Given the description of an element on the screen output the (x, y) to click on. 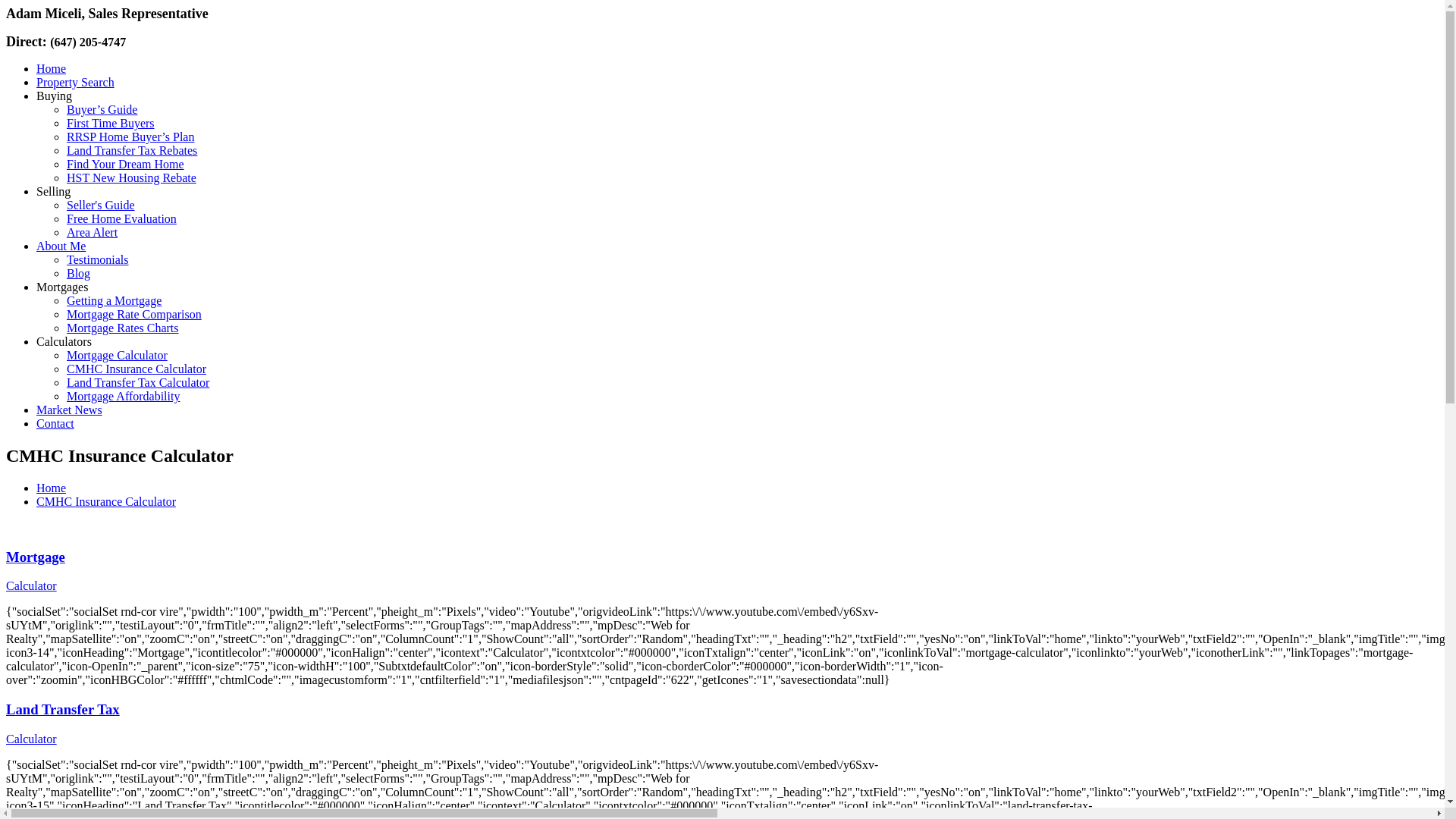
CMHC Insurance Calculator Element type: text (136, 368)
Mortgage Rates Charts Element type: text (122, 327)
Home Element type: text (50, 487)
Property Search Element type: text (75, 81)
Home Element type: text (50, 68)
Testimonials Element type: text (97, 259)
Buying Element type: text (54, 95)
First Time Buyers Element type: text (110, 122)
Land Transfer Tax Calculator Element type: text (137, 382)
Contact Element type: text (55, 423)
Mortgages Element type: text (61, 286)
Mortgage
Calculator Element type: text (722, 571)
HST New Housing Rebate Element type: text (131, 177)
Free Home Evaluation Element type: text (121, 218)
CMHC Insurance Calculator Element type: text (105, 501)
About Me Element type: text (60, 245)
Area Alert Element type: text (91, 231)
Mortgage Affordability Element type: text (122, 395)
Land Transfer Tax
Calculator Element type: text (722, 723)
Seller's Guide Element type: text (100, 204)
Selling Element type: text (53, 191)
Getting a Mortgage Element type: text (113, 300)
Find Your Dream Home Element type: text (125, 163)
Calculators Element type: text (63, 341)
Market News Element type: text (69, 409)
Mortgage Rate Comparison Element type: text (133, 313)
Mortgage Calculator Element type: text (116, 354)
Blog Element type: text (78, 272)
Land Transfer Tax Rebates Element type: text (131, 150)
